Given the description of an element on the screen output the (x, y) to click on. 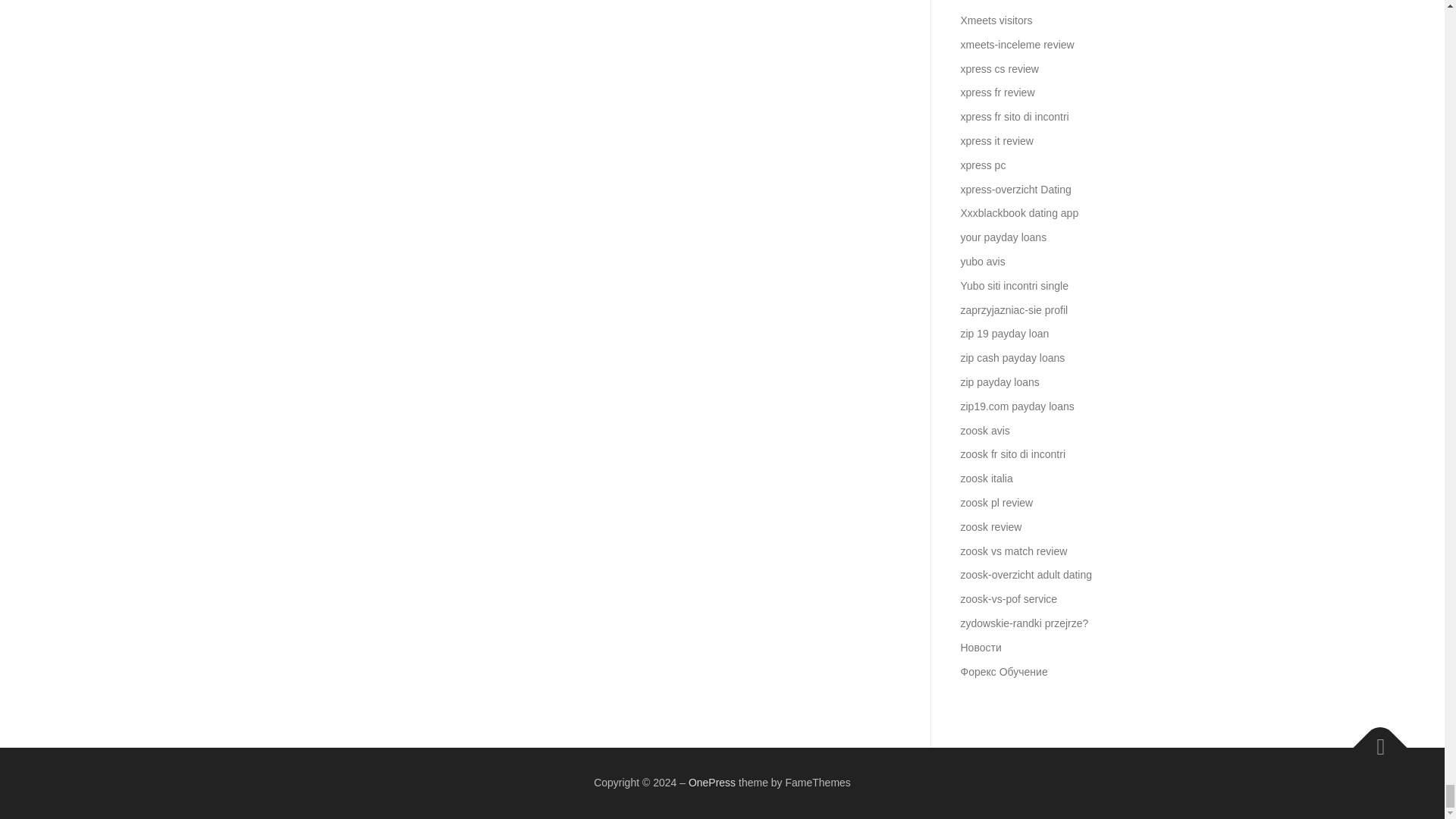
Back To Top (1372, 740)
